Given the description of an element on the screen output the (x, y) to click on. 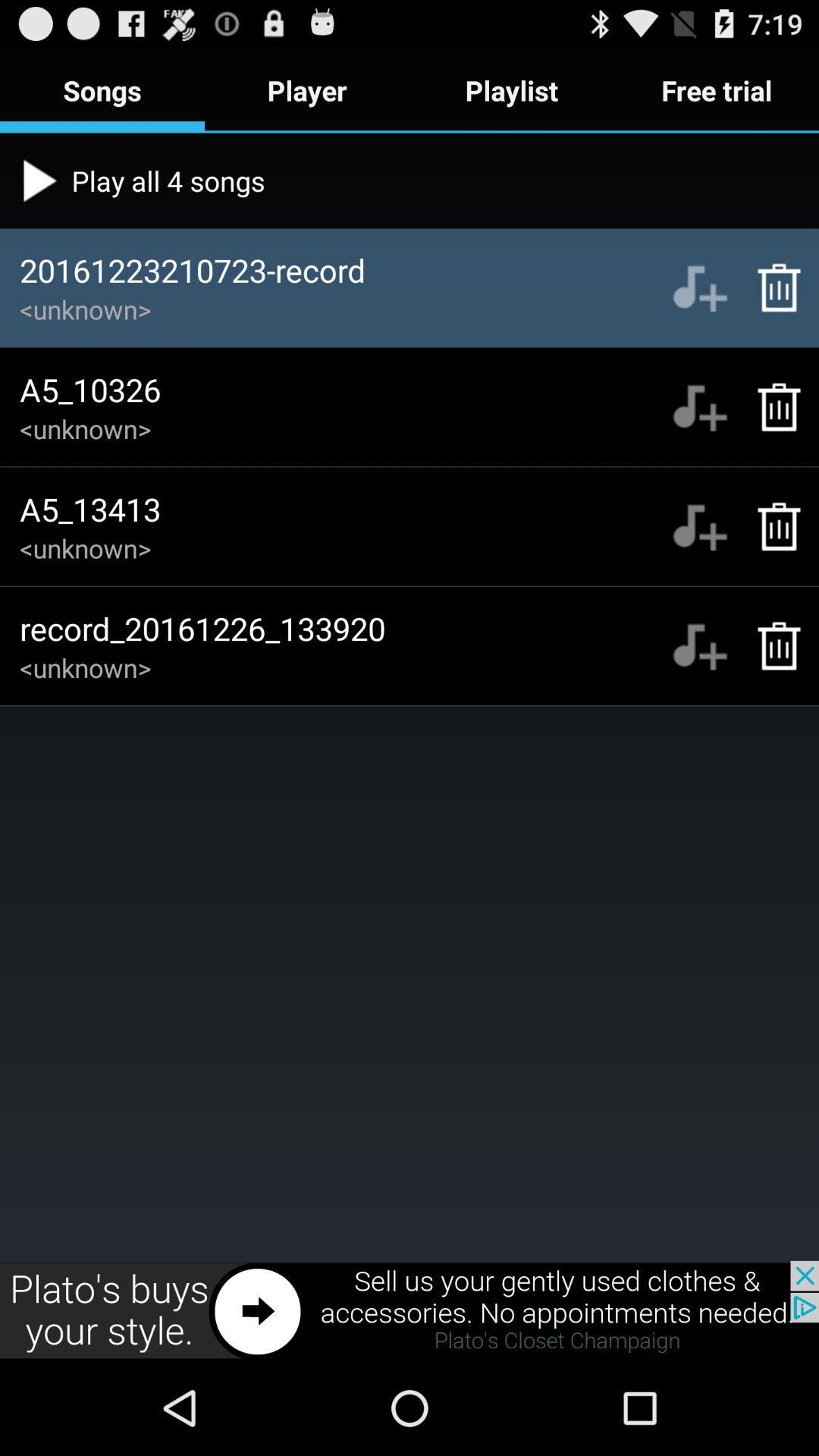
add to liked songs (699, 407)
